Given the description of an element on the screen output the (x, y) to click on. 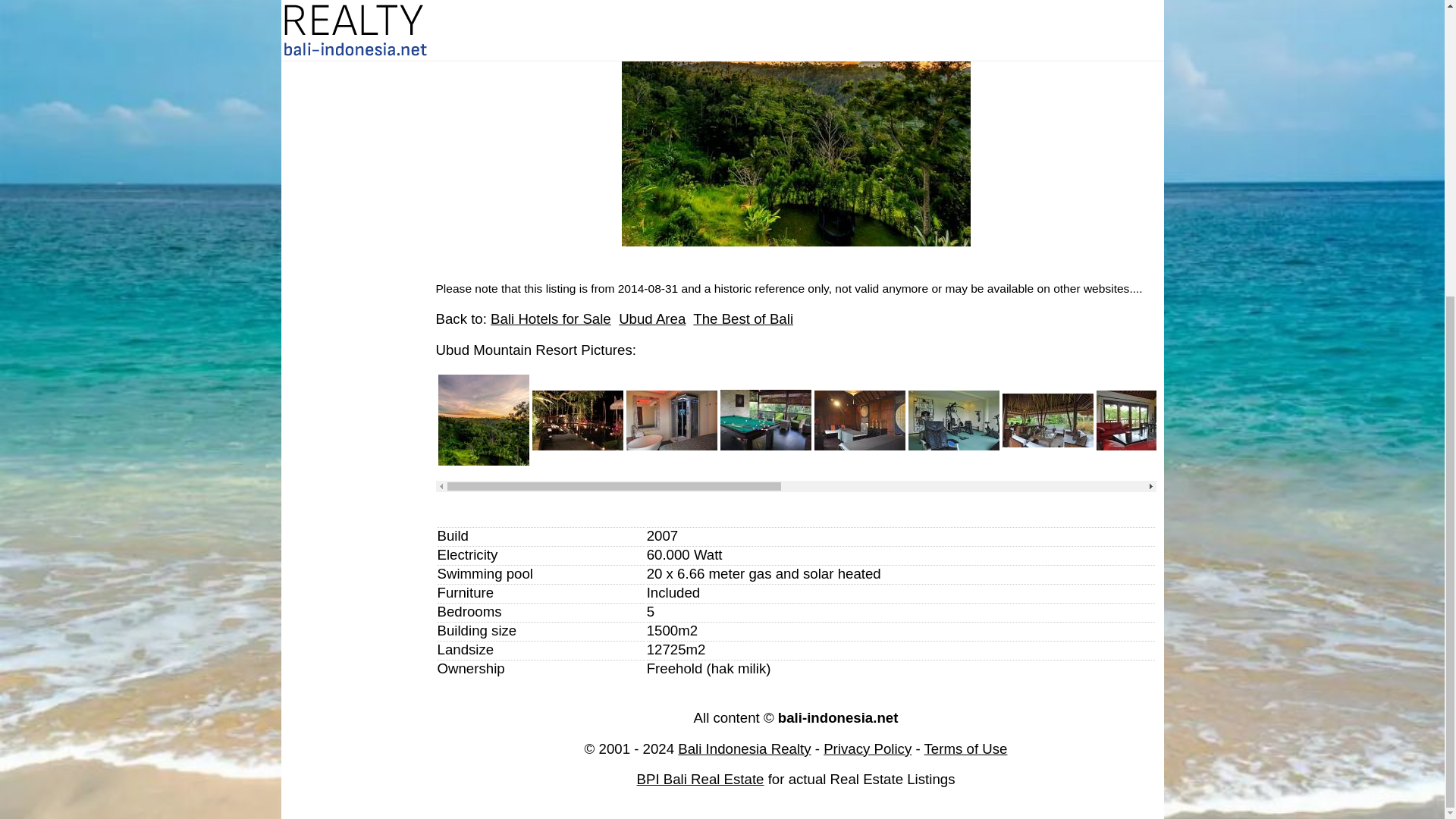
Privacy Policy (867, 748)
Ubud Area (651, 318)
Bali Hotels for Sale (550, 318)
The Best of Bali (743, 318)
Privacy Policy (965, 748)
Jakarta and Java (354, 8)
Other Listings (354, 28)
